Given the description of an element on the screen output the (x, y) to click on. 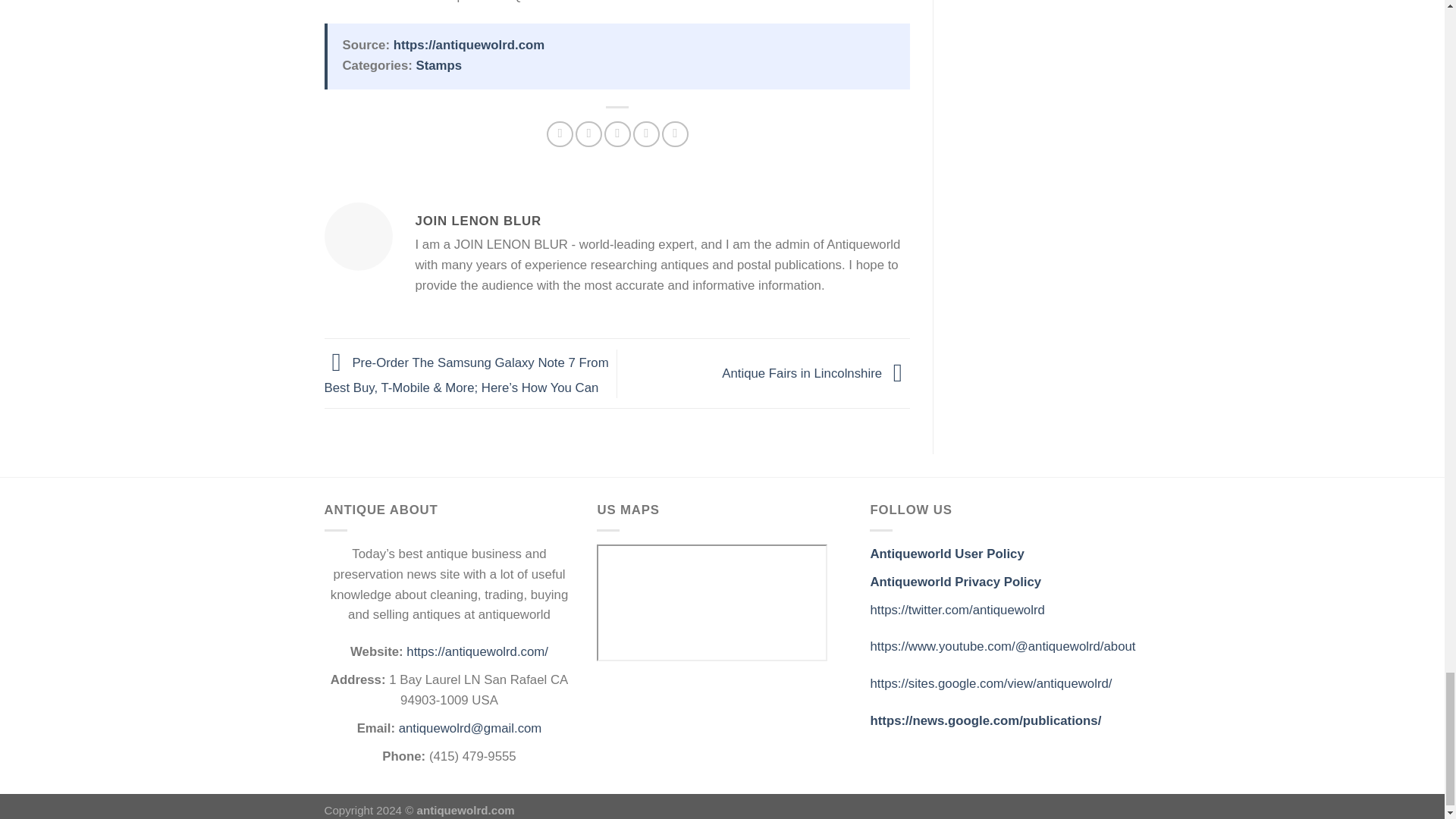
Share on Twitter (588, 134)
Pin on Pinterest (646, 134)
Antique Fairs in Lincolnshire (816, 372)
Email to a Friend (617, 134)
Stamps (437, 65)
Share on LinkedIn (675, 134)
Share on Facebook (560, 134)
